Given the description of an element on the screen output the (x, y) to click on. 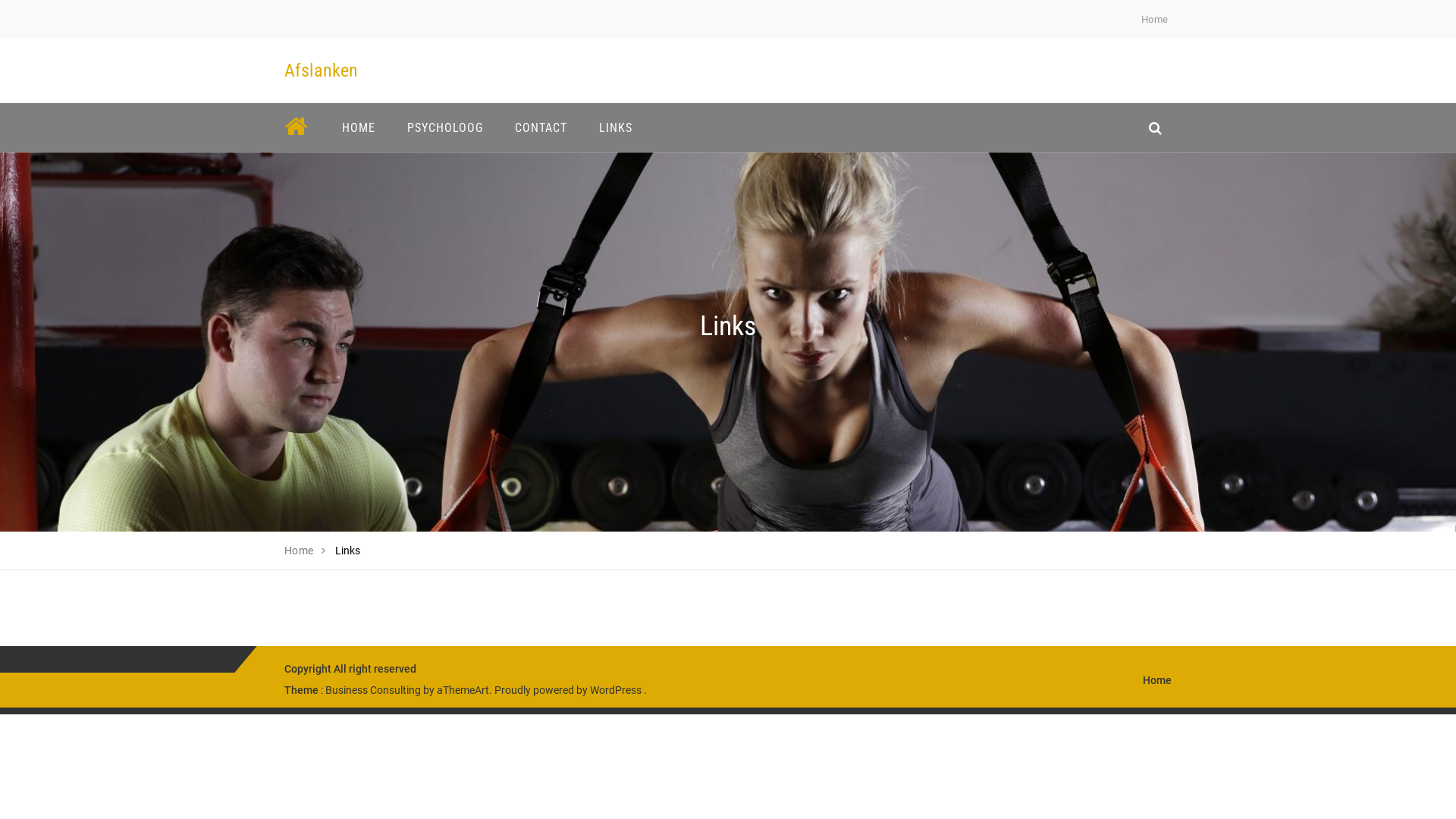
LINKS Element type: text (615, 127)
Home Element type: text (298, 550)
search_icon Element type: hover (1155, 127)
Home Element type: text (1154, 19)
Afslanken Element type: text (320, 70)
Home Element type: text (1156, 680)
HOME Element type: text (358, 127)
CONTACT Element type: text (541, 127)
Theme Element type: text (301, 690)
PSYCHOLOOG Element type: text (444, 127)
